Given the description of an element on the screen output the (x, y) to click on. 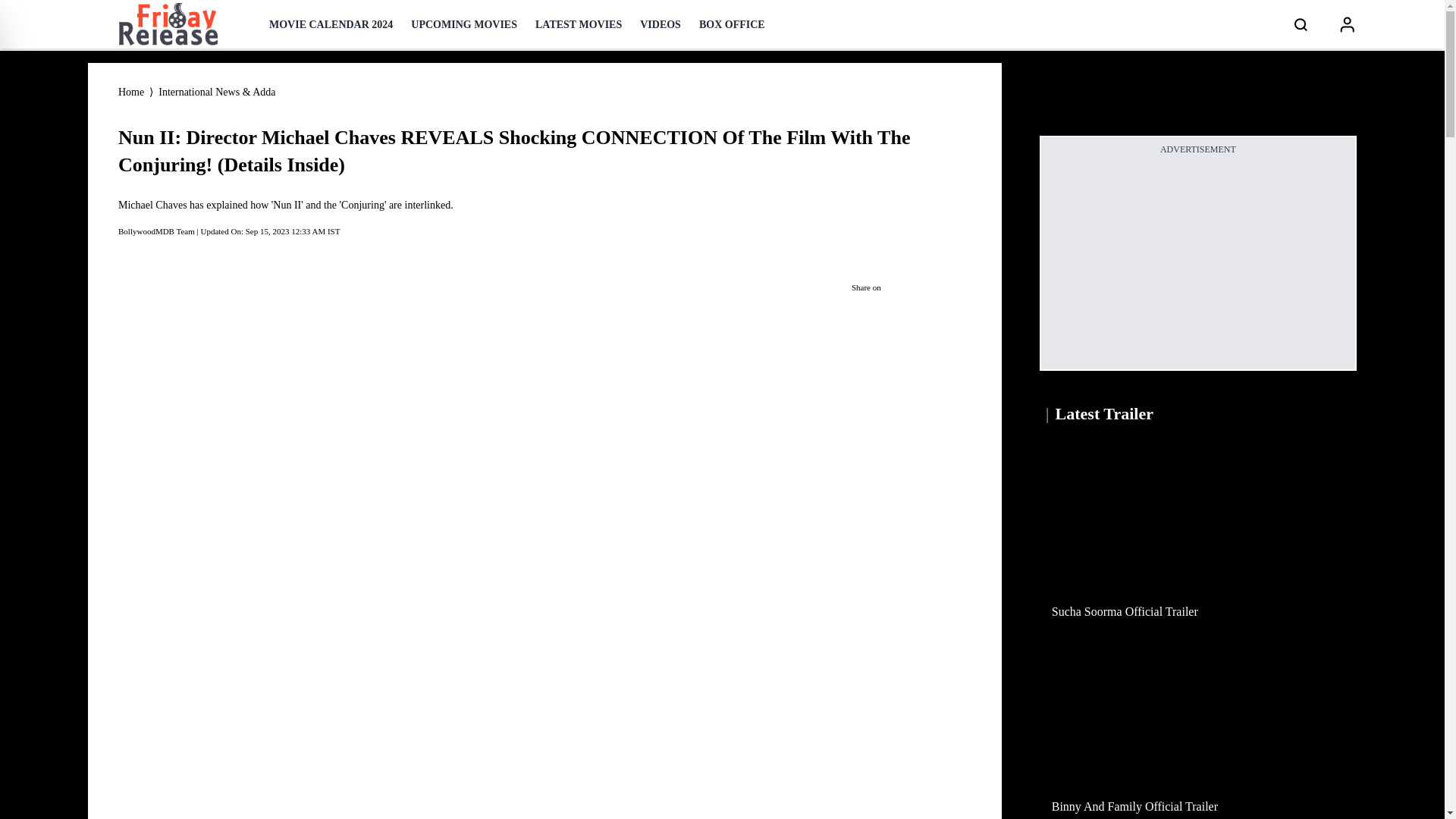
UPCOMING MOVIES (463, 24)
MOVIE CALENDAR 2024 (331, 24)
LATEST MOVIES (578, 24)
BOX OFFICE (731, 24)
VIDEOS (660, 24)
Share on (905, 287)
